Given the description of an element on the screen output the (x, y) to click on. 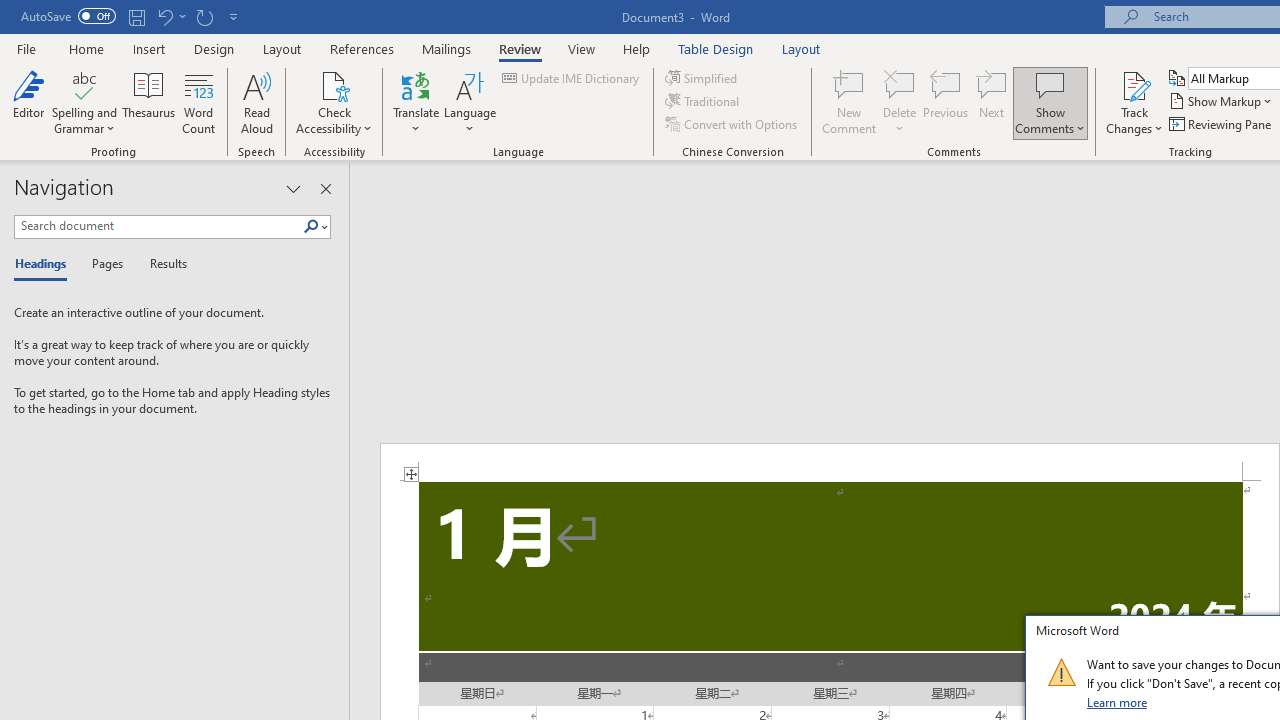
Table Design (715, 48)
Word Count (198, 102)
Check Accessibility (334, 102)
Undo Increase Indent (164, 15)
Headings (45, 264)
Update IME Dictionary... (572, 78)
New Comment (849, 102)
Track Changes (1134, 102)
Check Accessibility (334, 84)
